Given the description of an element on the screen output the (x, y) to click on. 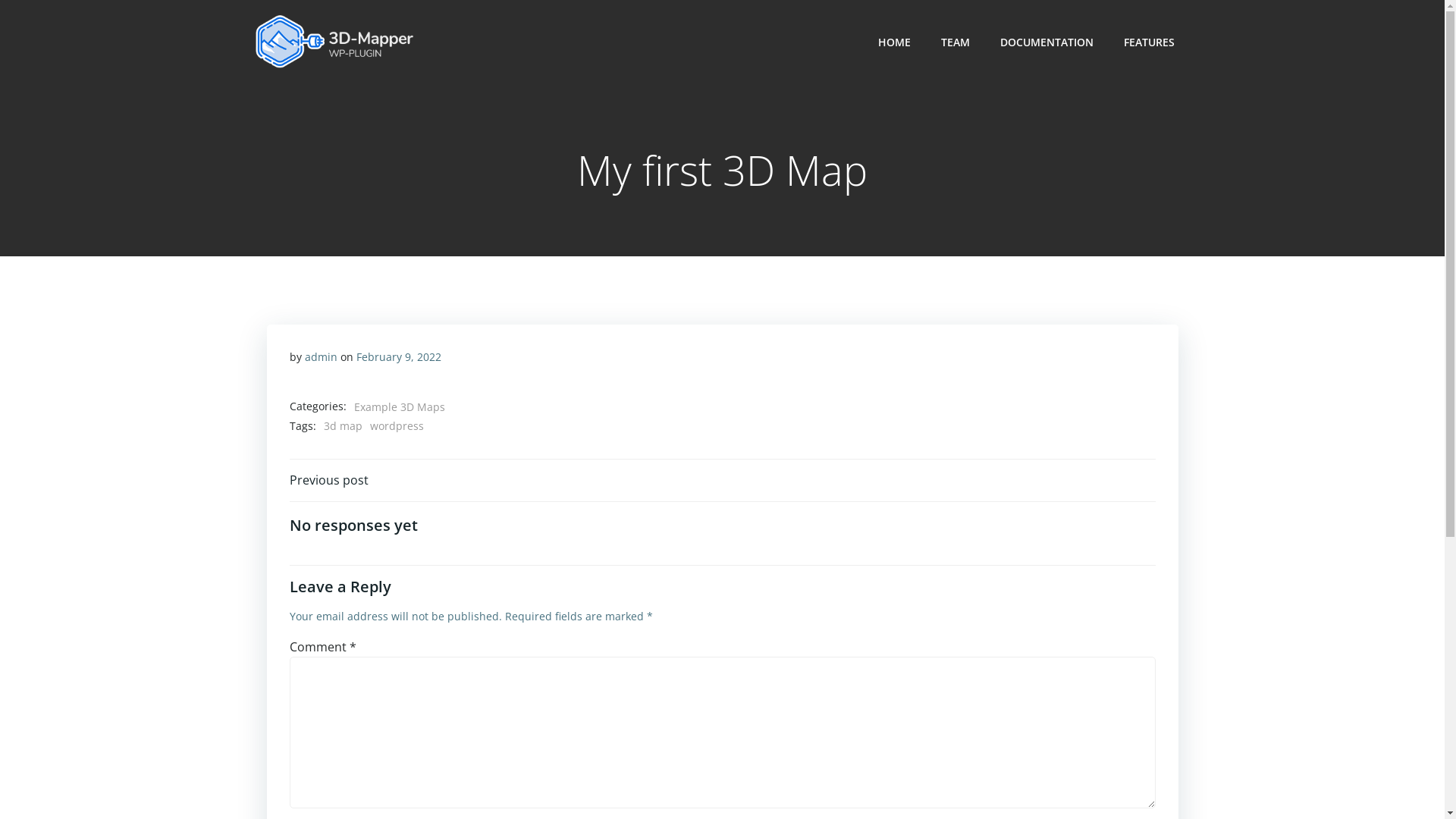
Previous post Element type: text (328, 479)
3d map Element type: text (342, 425)
Example 3D Maps Element type: text (398, 406)
DOCUMENTATION Element type: text (1045, 41)
FEATURES Element type: text (1148, 41)
Colibri Element type: text (898, 773)
admin Element type: text (320, 356)
HOME Element type: text (894, 41)
wordpress Element type: text (396, 425)
February 9, 2022 Element type: text (398, 356)
TEAM Element type: text (954, 41)
